Given the description of an element on the screen output the (x, y) to click on. 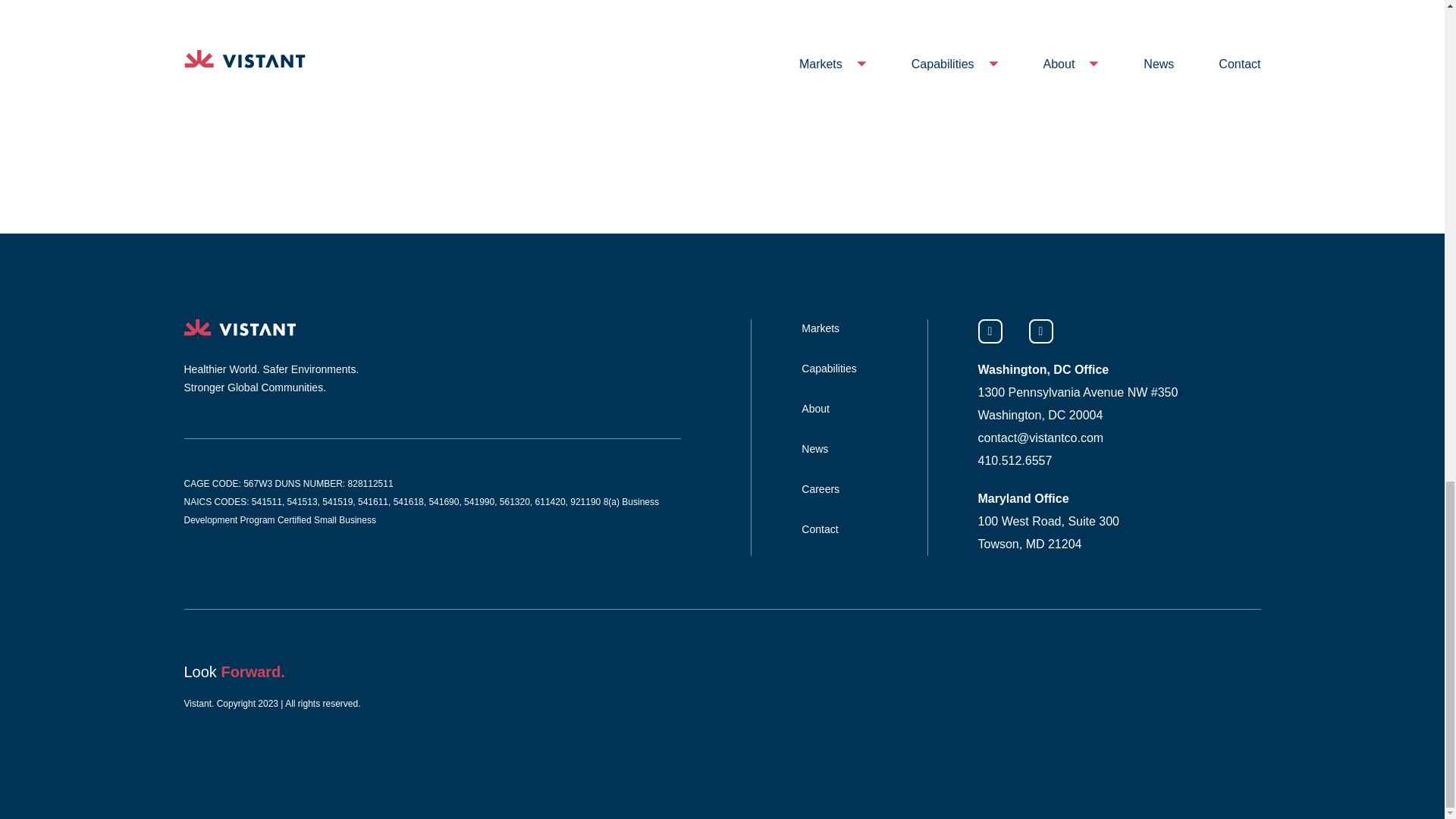
Vistant on Linked In (990, 331)
News (815, 449)
Careers (821, 489)
Vistant on Twitter (1039, 331)
Markets (821, 328)
Vistant (239, 327)
Capabilities (829, 368)
About (815, 408)
Contact (820, 529)
